Given the description of an element on the screen output the (x, y) to click on. 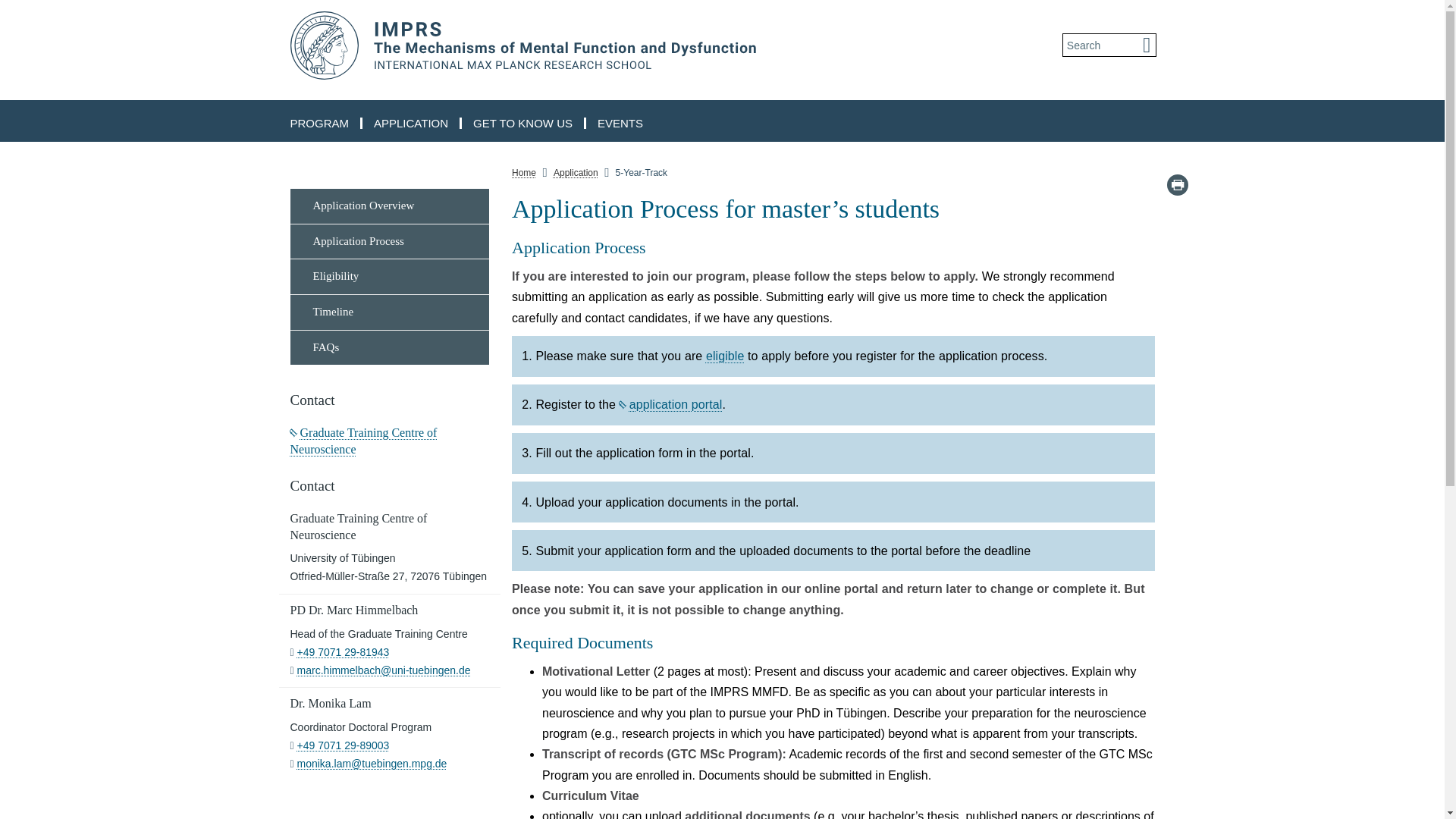
Graduate Training Centre of Neuroscience (362, 440)
application portal (671, 404)
FAQs (389, 347)
Graduate Training Centre of Neuroscience (362, 440)
GET TO KNOW US (523, 122)
Application Process (389, 242)
Home (523, 172)
eligible (725, 355)
EVENTS (619, 122)
Application (575, 172)
